Given the description of an element on the screen output the (x, y) to click on. 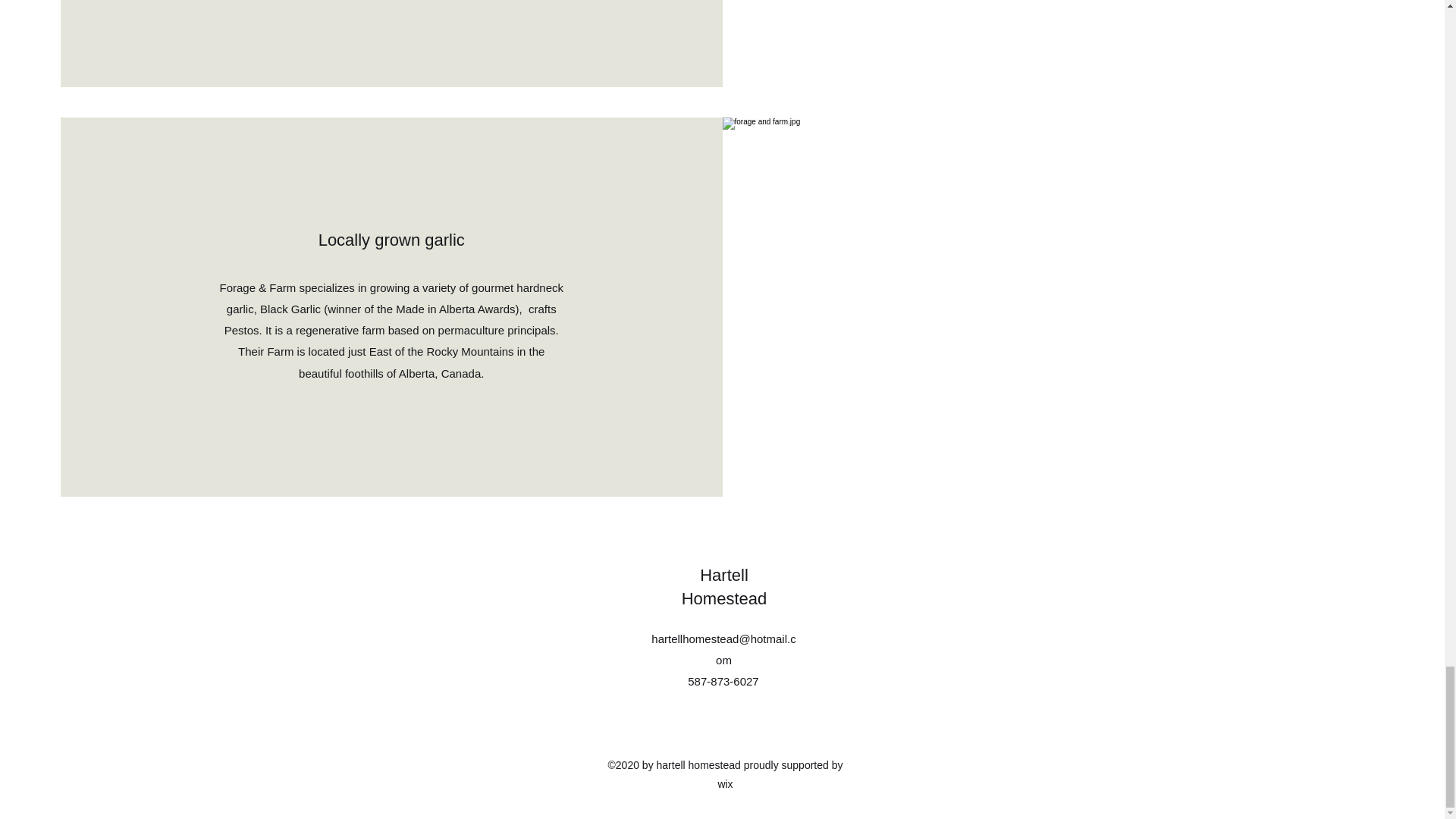
Hartell Homestead (724, 586)
